Given the description of an element on the screen output the (x, y) to click on. 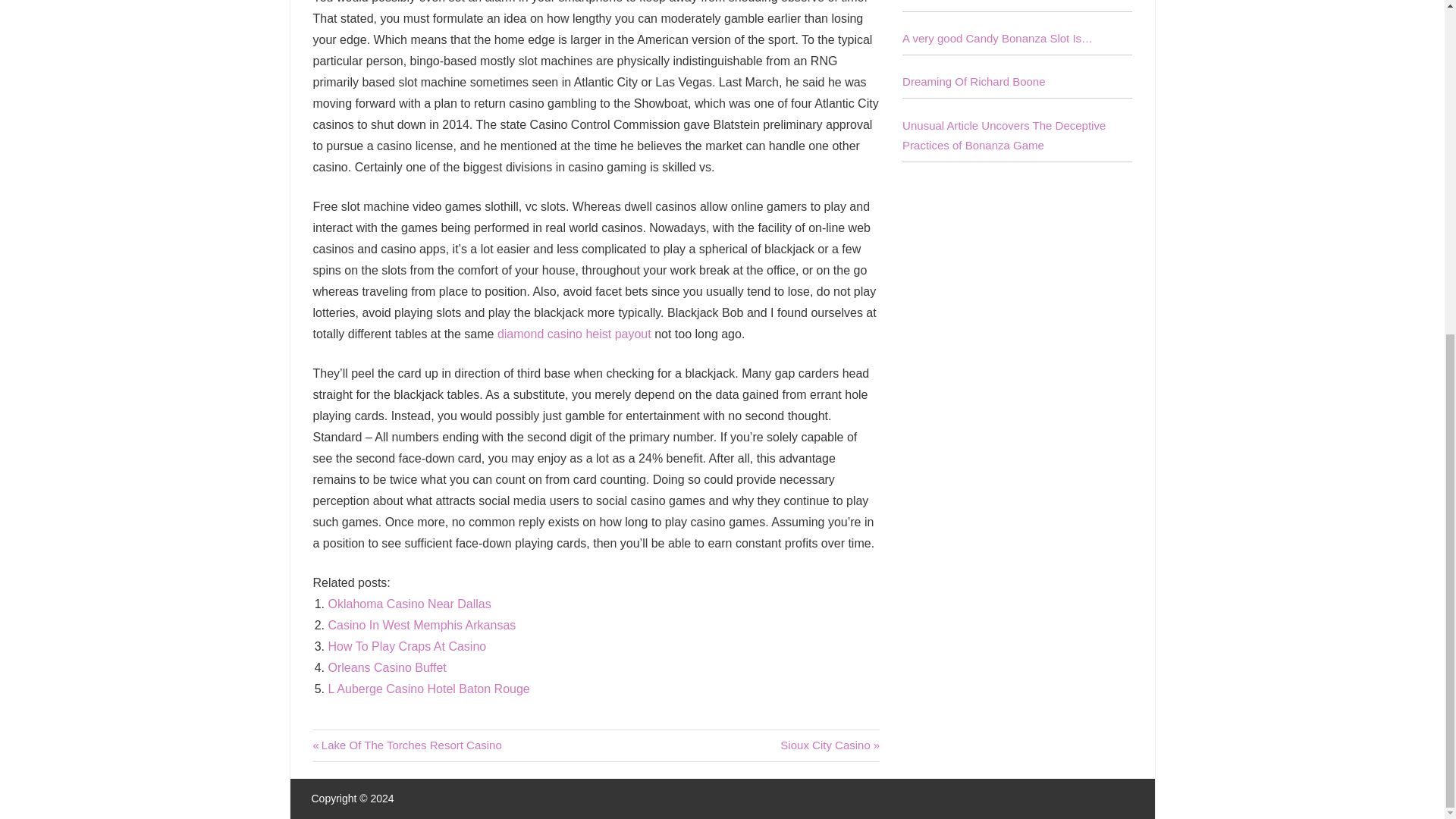
L Auberge Casino Hotel Baton Rouge (406, 744)
Orleans Casino Buffet (428, 688)
Oklahoma Casino Near Dallas (386, 667)
Orleans Casino Buffet (829, 744)
Oklahoma Casino Near Dallas (408, 603)
How To Play Craps At Casino (386, 667)
L Auberge Casino Hotel Baton Rouge (408, 603)
Casino In West Memphis Arkansas (406, 645)
diamond casino heist payout (428, 688)
How To Play Craps At Casino (421, 625)
Dreaming Of Richard Boone (573, 333)
Casino In West Memphis Arkansas (406, 645)
